Given the description of an element on the screen output the (x, y) to click on. 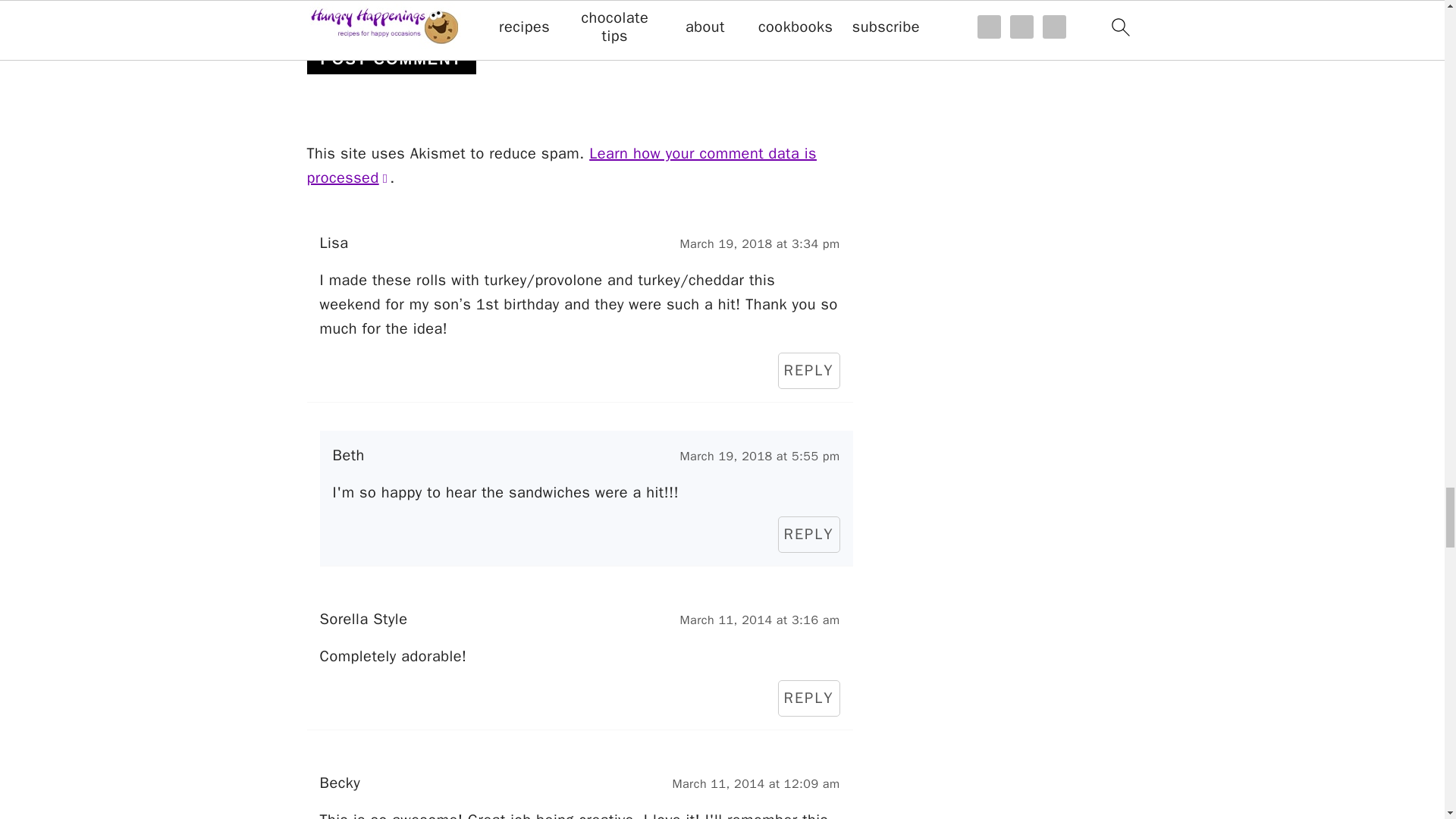
Post Comment (390, 59)
